Given the description of an element on the screen output the (x, y) to click on. 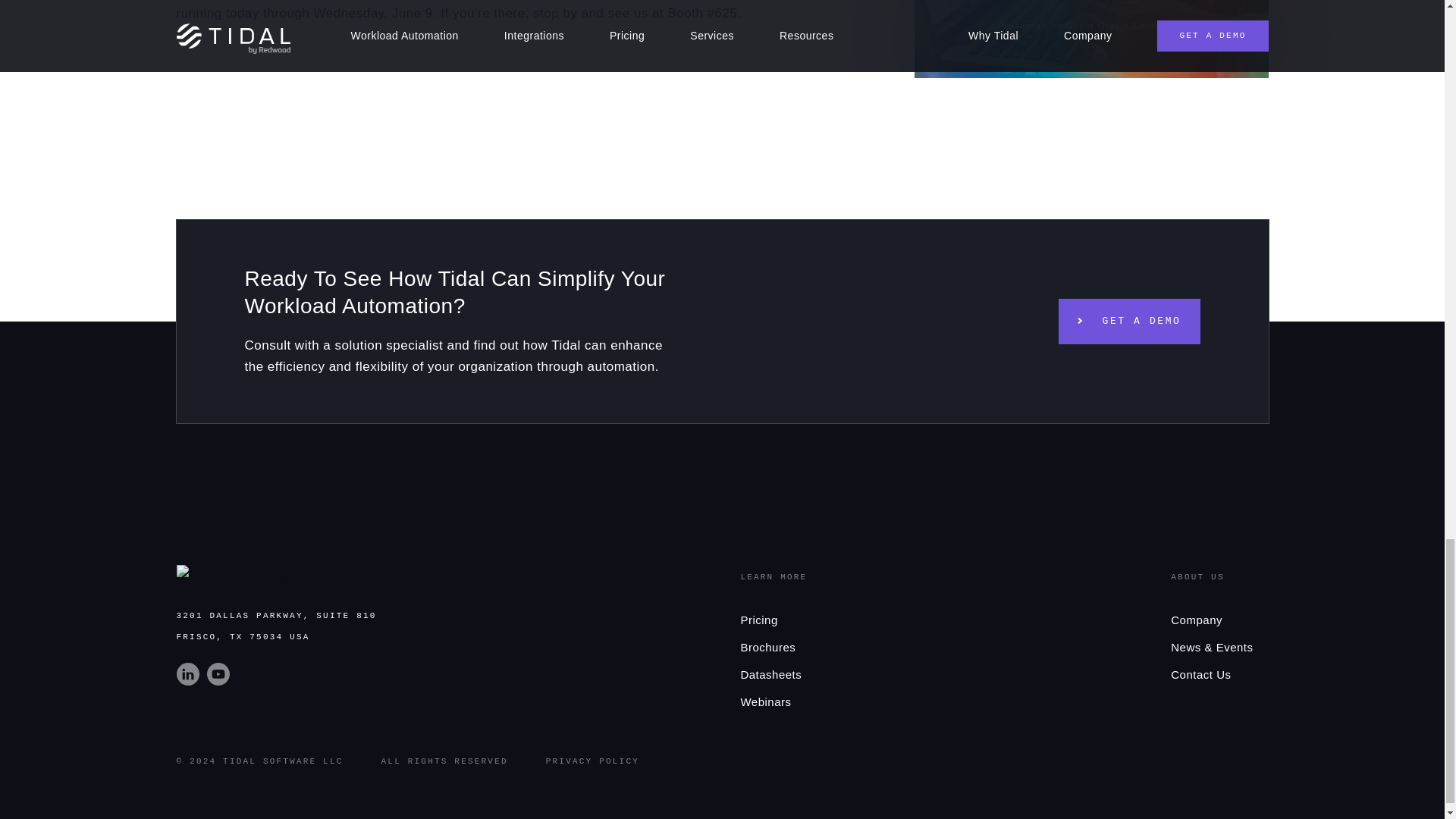
Youtube Social Link (219, 681)
Linkedin Social Link (191, 681)
Google Maps Link (275, 625)
